Given the description of an element on the screen output the (x, y) to click on. 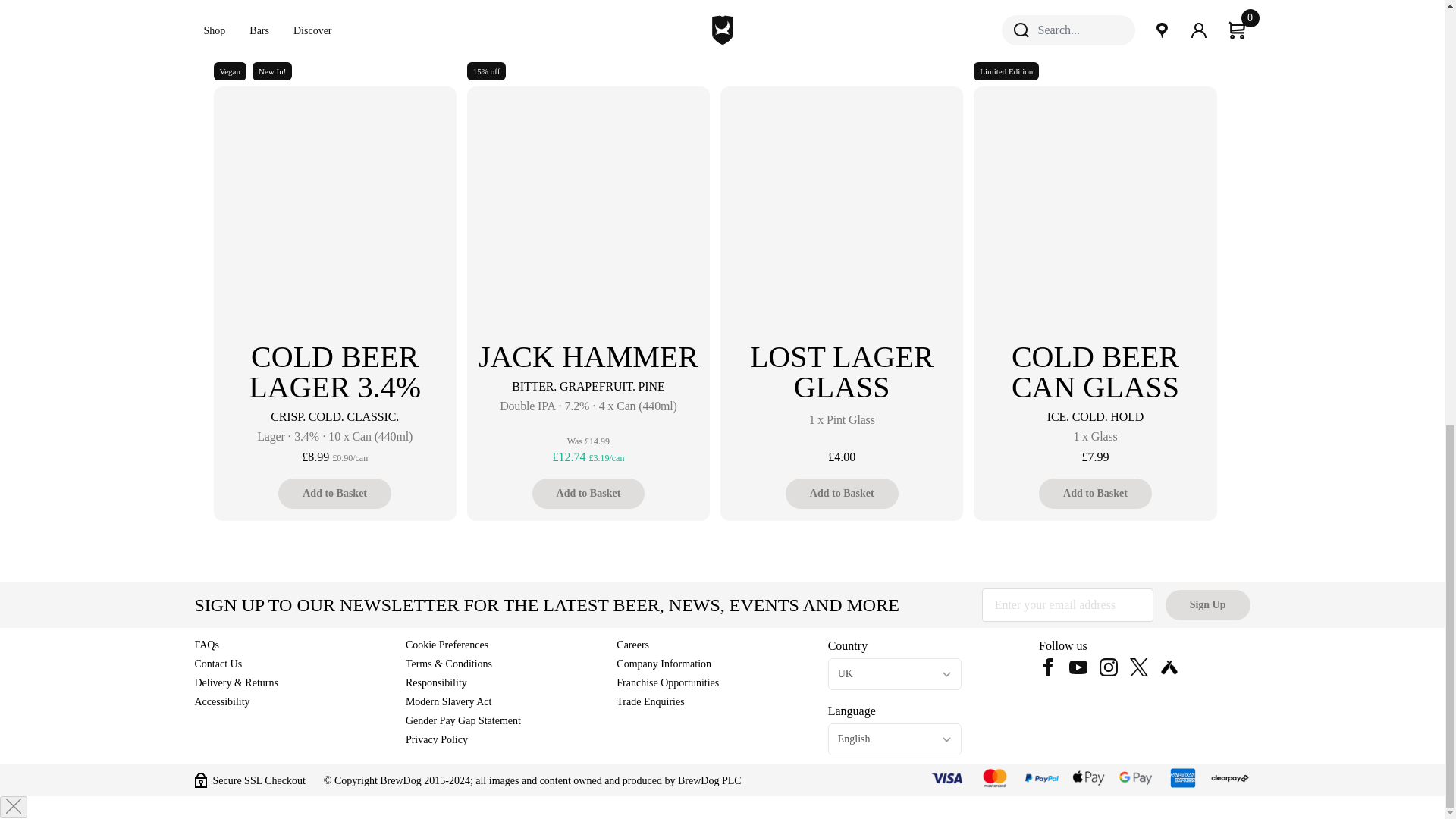
Add to Basket (1095, 493)
Add to Basket (588, 493)
Gender Pay Gap Statement (463, 720)
Responsibility (436, 682)
LOST LAGER GLASS (841, 249)
COLD BEER CAN GLASS (1094, 249)
Company Information (663, 663)
Privacy Policy (436, 739)
Add to Basket (842, 493)
Careers (632, 644)
Modern Slavery Act (449, 701)
Sign Up (1208, 604)
Trade Enquiries (649, 701)
JACK HAMMER (588, 234)
Add to Basket (334, 493)
